Given the description of an element on the screen output the (x, y) to click on. 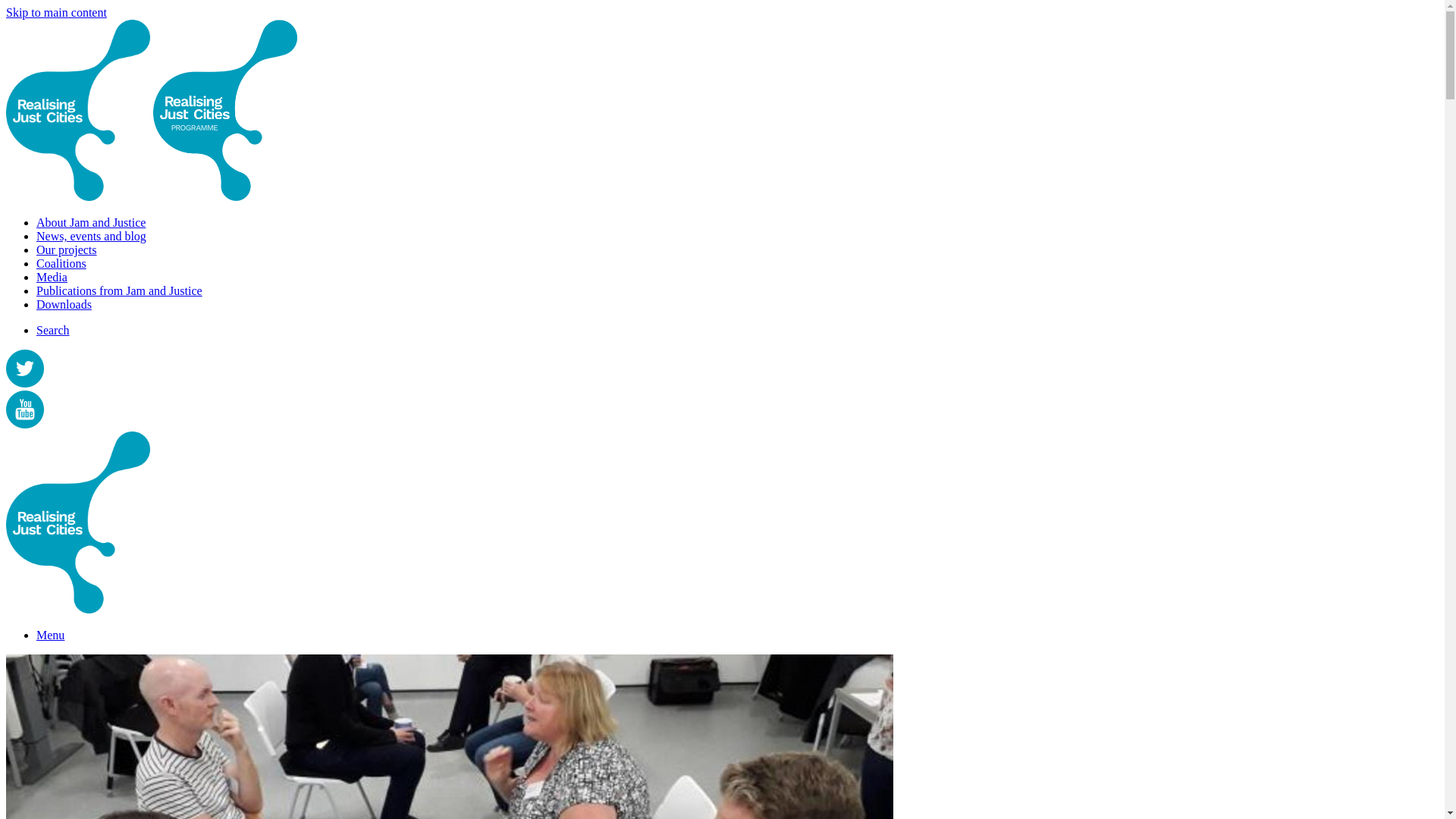
Our projects (66, 249)
Forging coalitions for change (60, 263)
What is Jam and Justice? (90, 222)
Publications from Jam and Justice (119, 290)
Coalitions (60, 263)
Skip to main content (55, 11)
Media (51, 277)
Downloads (63, 304)
Home (224, 196)
Search (52, 329)
